Given the description of an element on the screen output the (x, y) to click on. 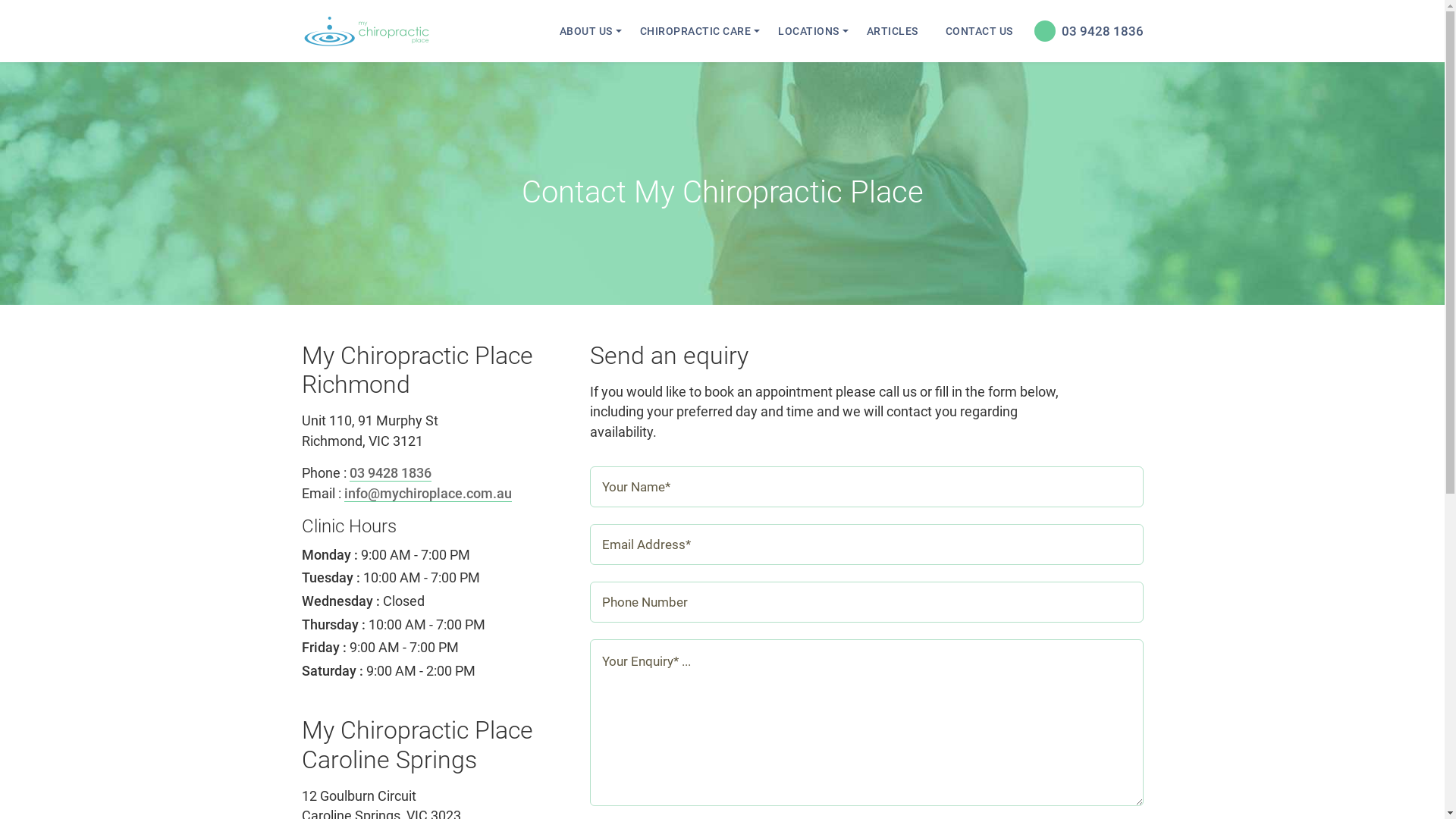
CHIROPRACTIC CARE Element type: text (695, 30)
LOCATIONS Element type: text (808, 30)
CONTACT US Element type: text (978, 30)
info@mychiroplace.com.au Element type: text (427, 494)
ARTICLES Element type: text (891, 30)
03 9428 1836 Element type: text (389, 473)
03 9428 1836 Element type: text (1084, 30)
ABOUT US Element type: text (585, 30)
